Given the description of an element on the screen output the (x, y) to click on. 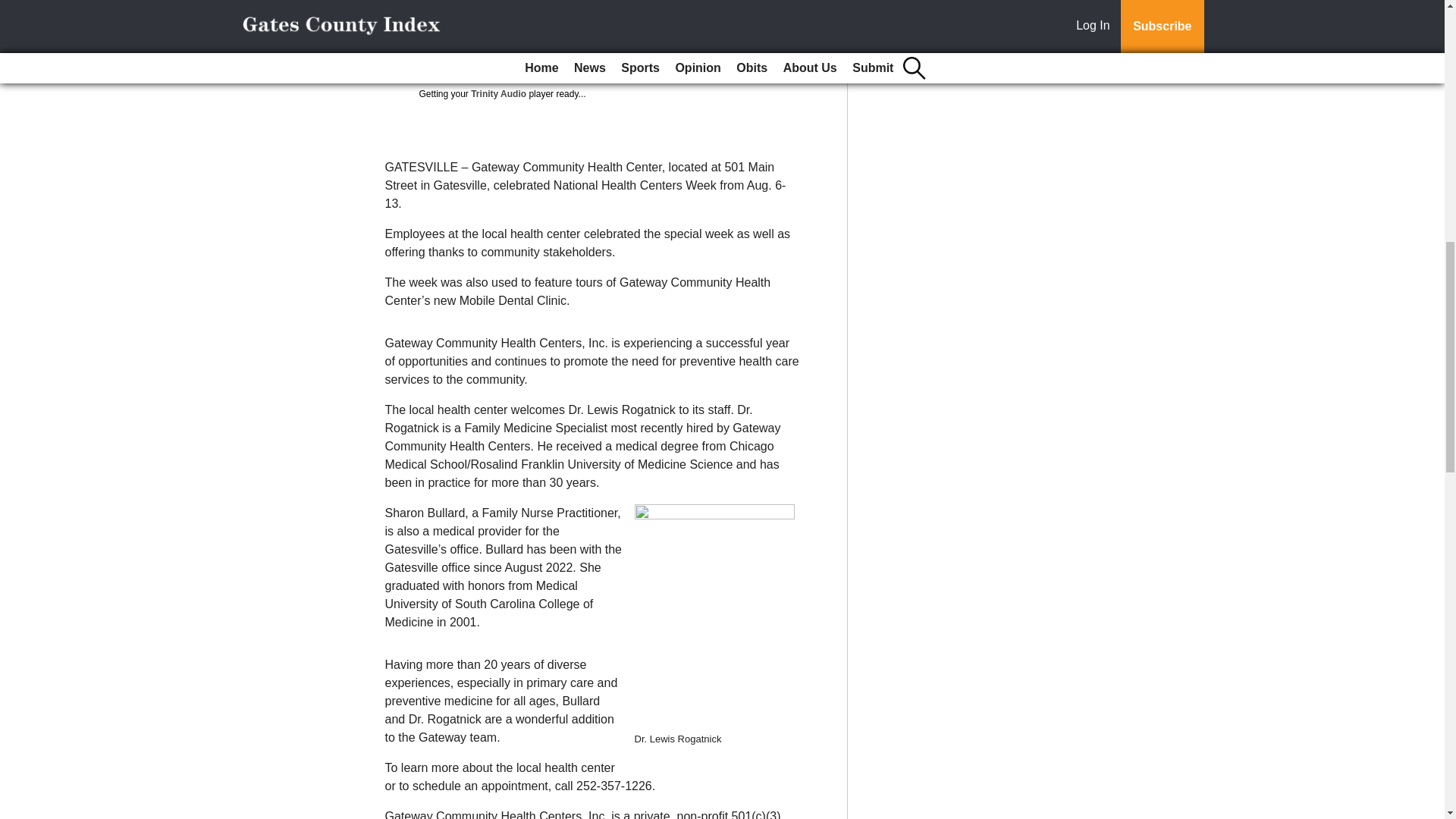
Trinity Audio (497, 93)
